Given the description of an element on the screen output the (x, y) to click on. 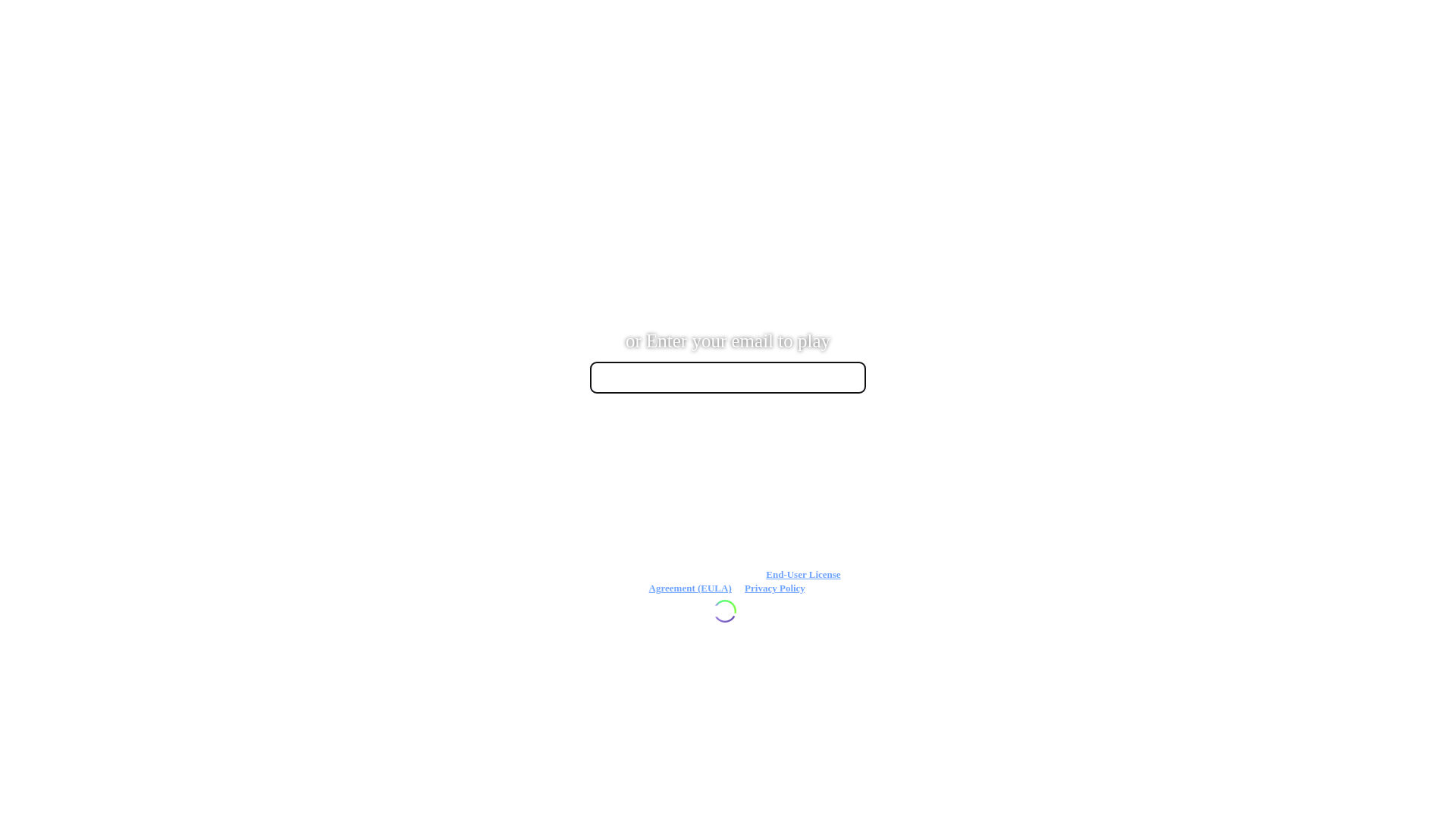
End-User License
Agreement (EULA) Element type: text (744, 580)
  Element type: text (727, 481)
Privacy Policy Element type: text (774, 587)
